Given the description of an element on the screen output the (x, y) to click on. 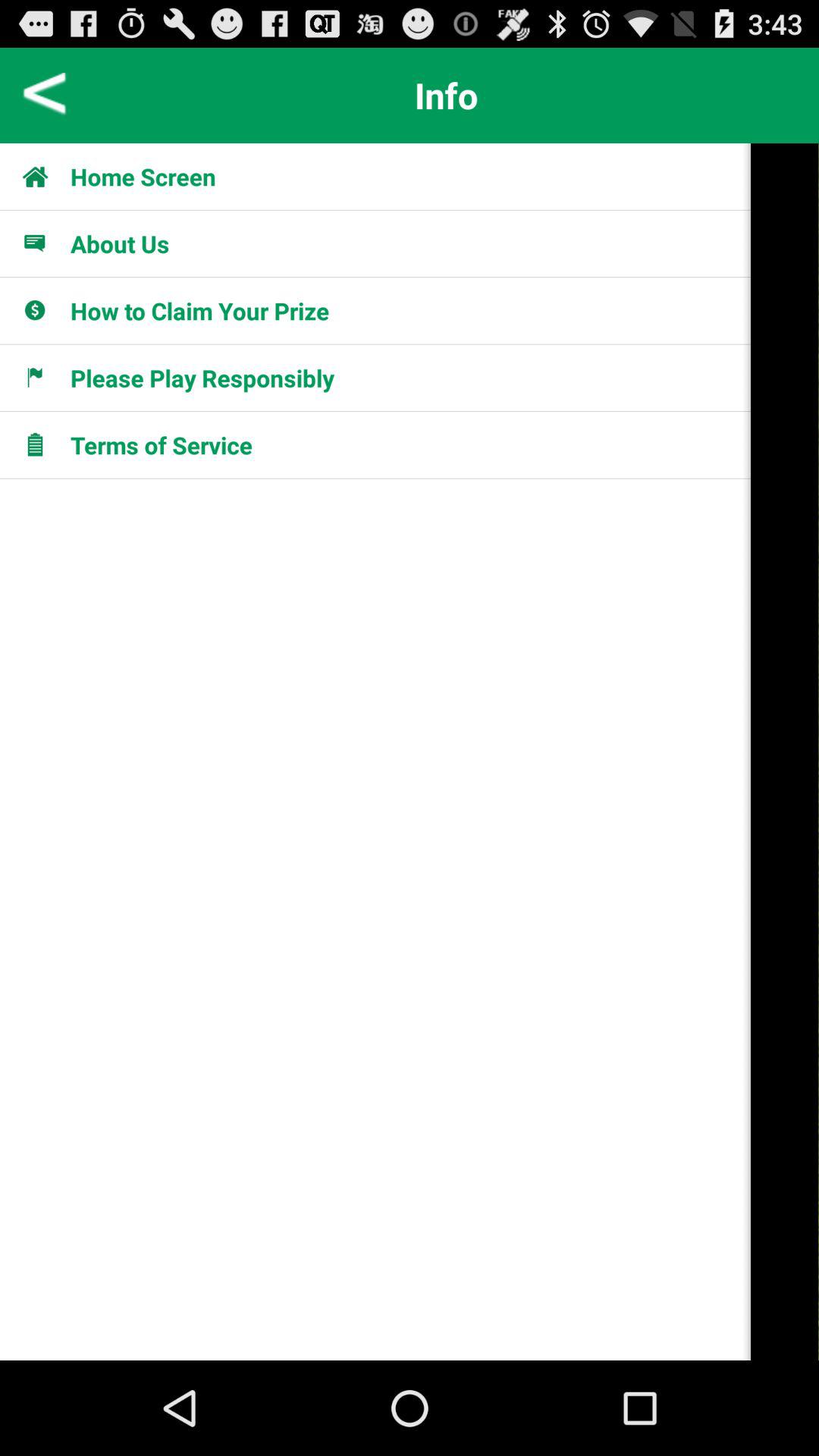
click the item next to the home screen icon (43, 176)
